Given the description of an element on the screen output the (x, y) to click on. 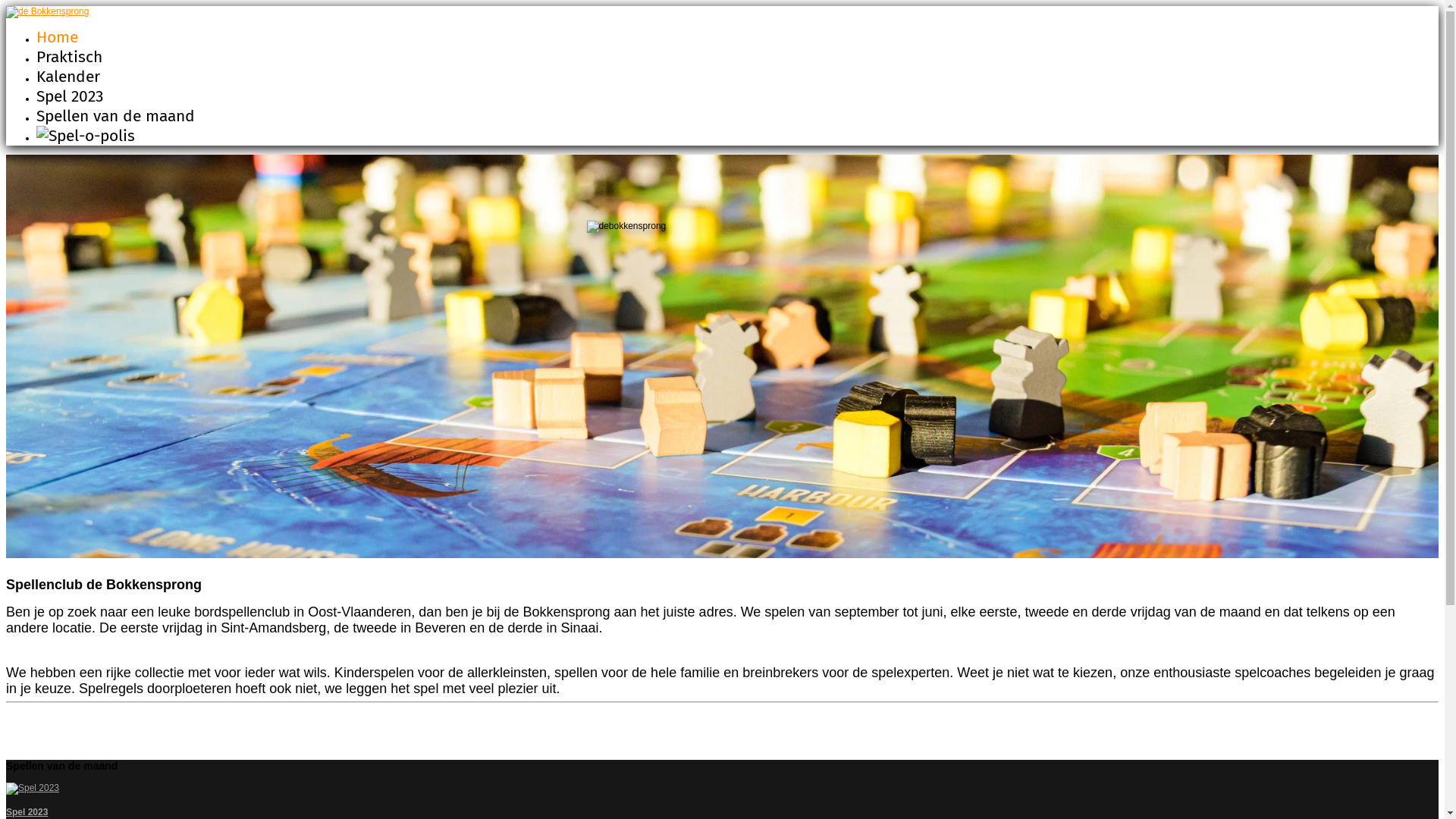
Praktisch Element type: text (69, 56)
Home Element type: text (57, 37)
Spellen van de maand Element type: text (115, 115)
Spel 2023 Element type: text (69, 96)
Spel 2023 Element type: text (26, 811)
Kalender Element type: text (68, 76)
